Given the description of an element on the screen output the (x, y) to click on. 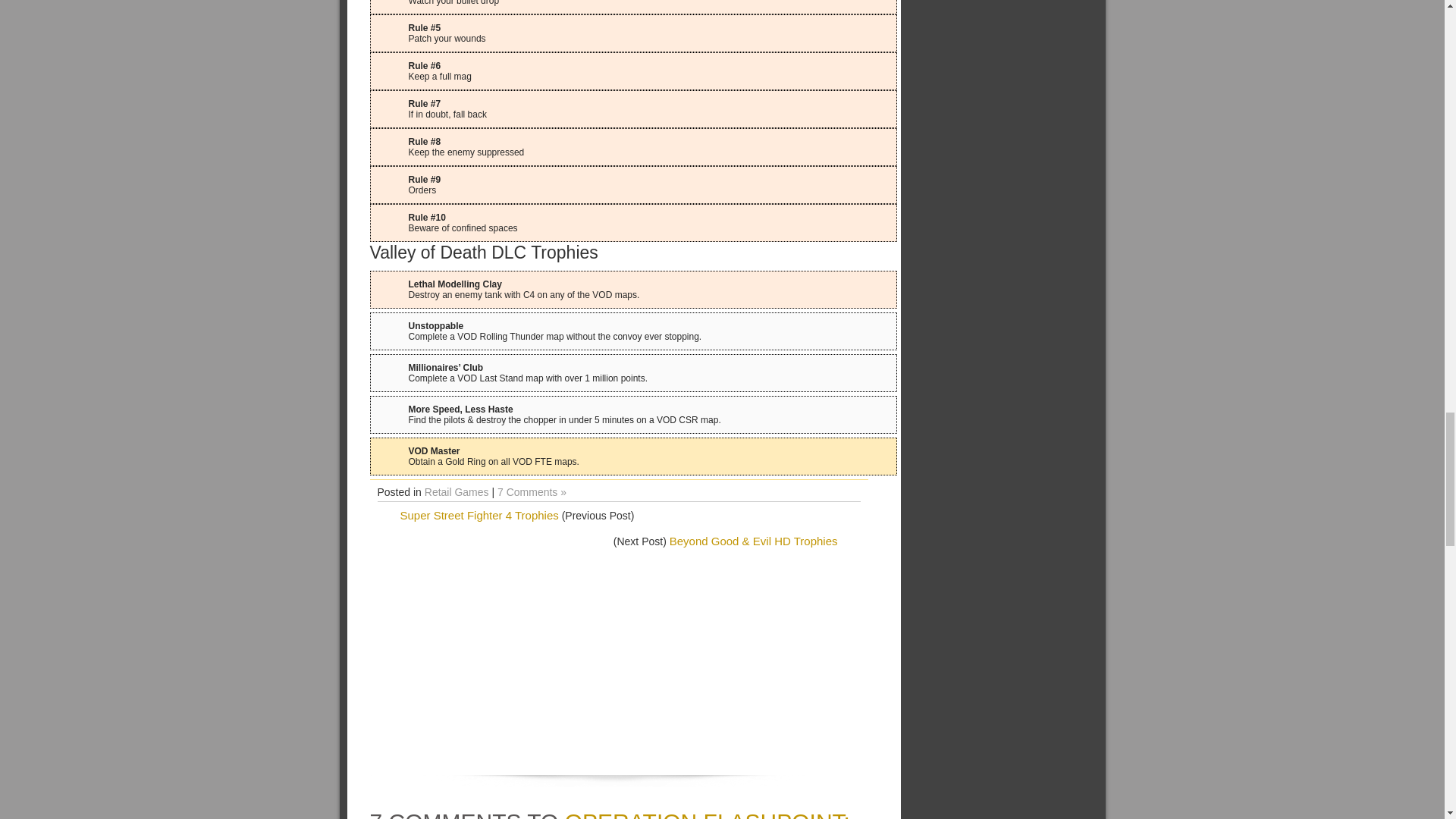
Retail Games (457, 491)
OPERATION FLASHPOINT: RED RIVER TROPHIES (609, 814)
Super Street Fighter 4 Trophies (479, 514)
